Given the description of an element on the screen output the (x, y) to click on. 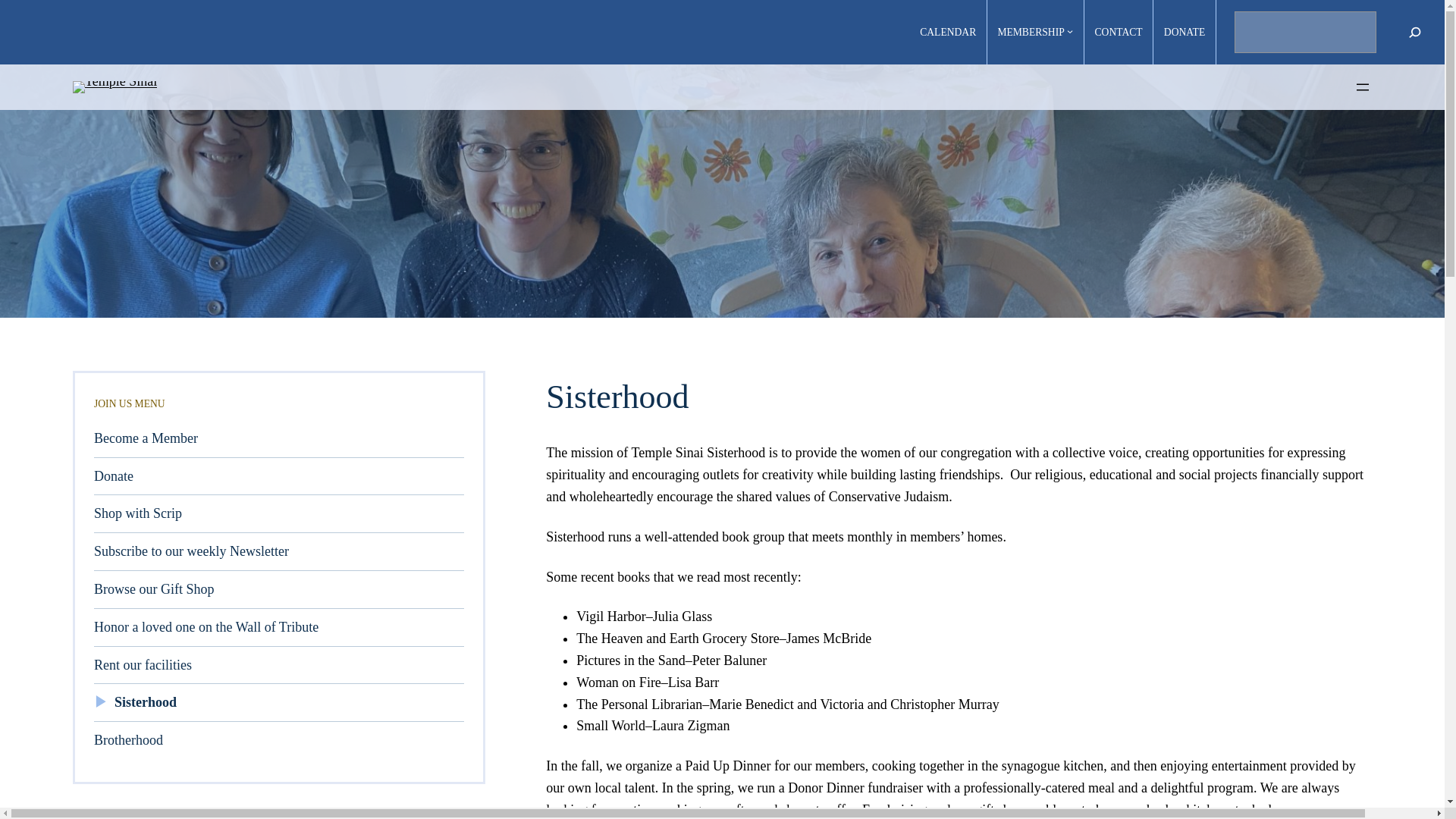
MEMBERSHIP (1030, 32)
DONATE (1184, 32)
CONTACT (1118, 32)
CALENDAR (947, 32)
